Given the description of an element on the screen output the (x, y) to click on. 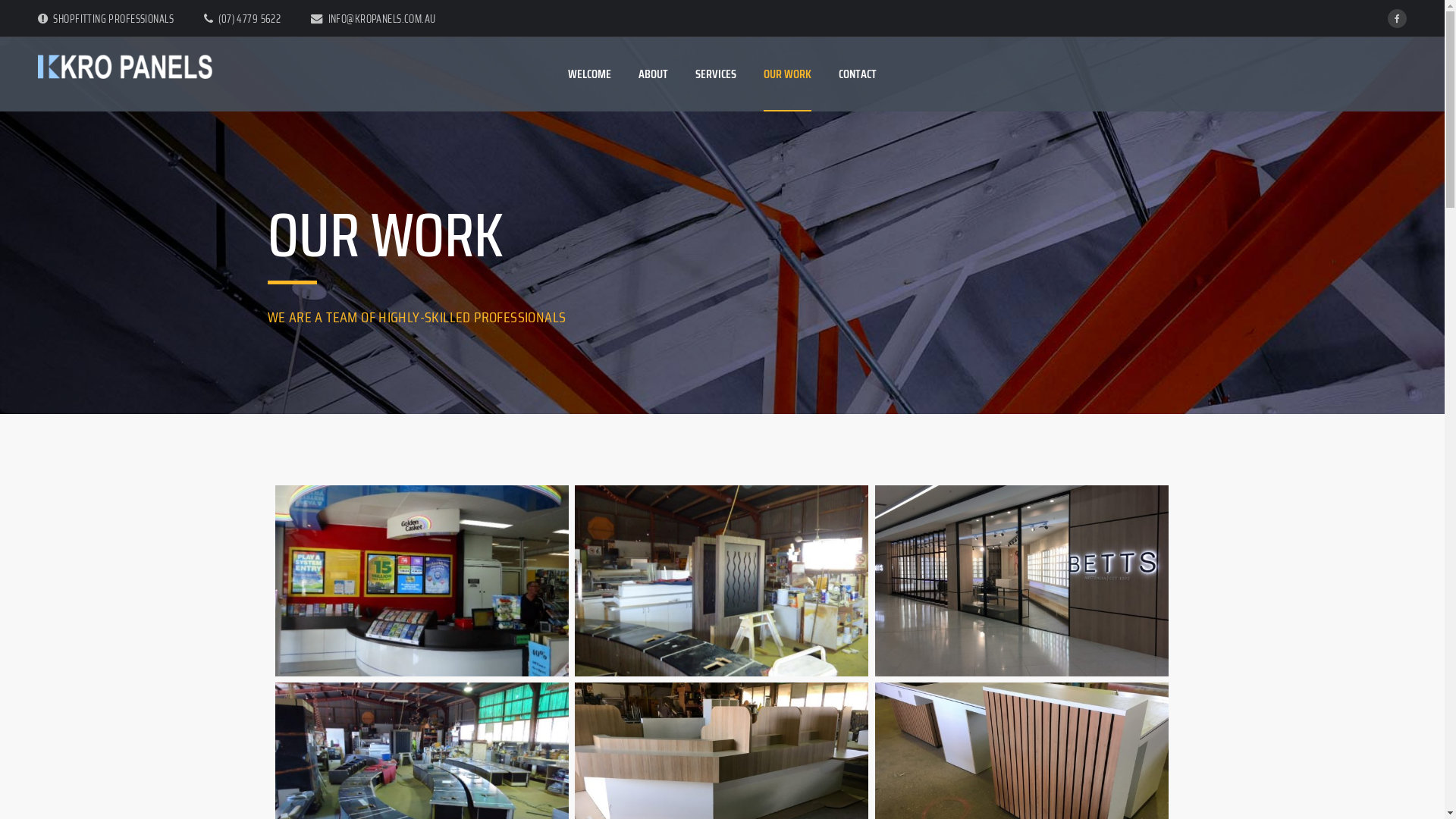
CONTACT Element type: text (857, 74)
WELCOME Element type: text (589, 74)
SERVICES Element type: text (715, 74)
Facebook Element type: hover (1396, 18)
ABOUT Element type: text (652, 74)
SHOPFITTING PROFESSIONALS Element type: text (105, 18)
Kro Panels Element type: hover (124, 67)
OUR WORK Element type: text (787, 74)
INFO@KROPANELS.COM.AU Element type: text (372, 18)
